Given the description of an element on the screen output the (x, y) to click on. 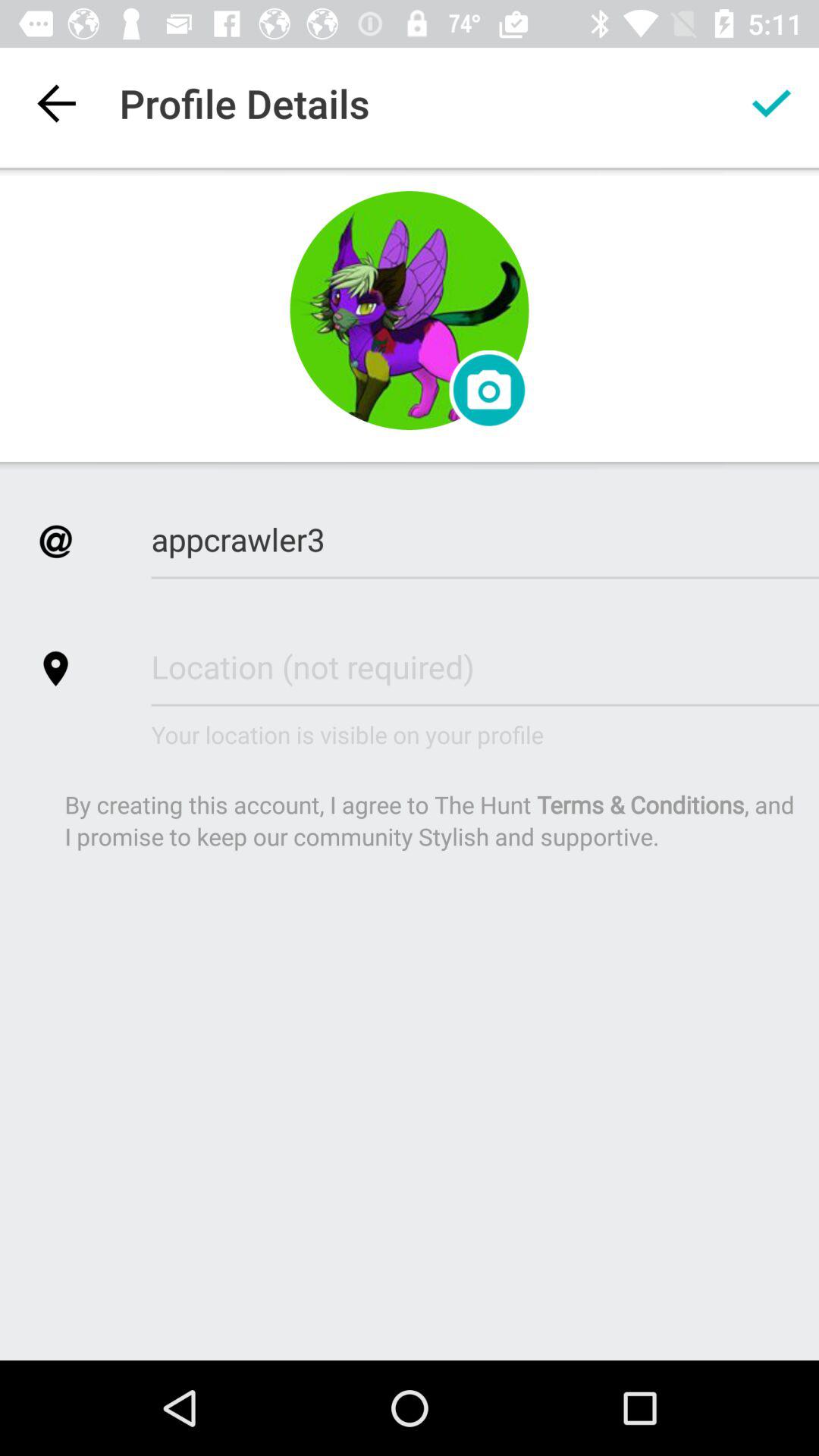
tap by creating this icon (430, 820)
